Given the description of an element on the screen output the (x, y) to click on. 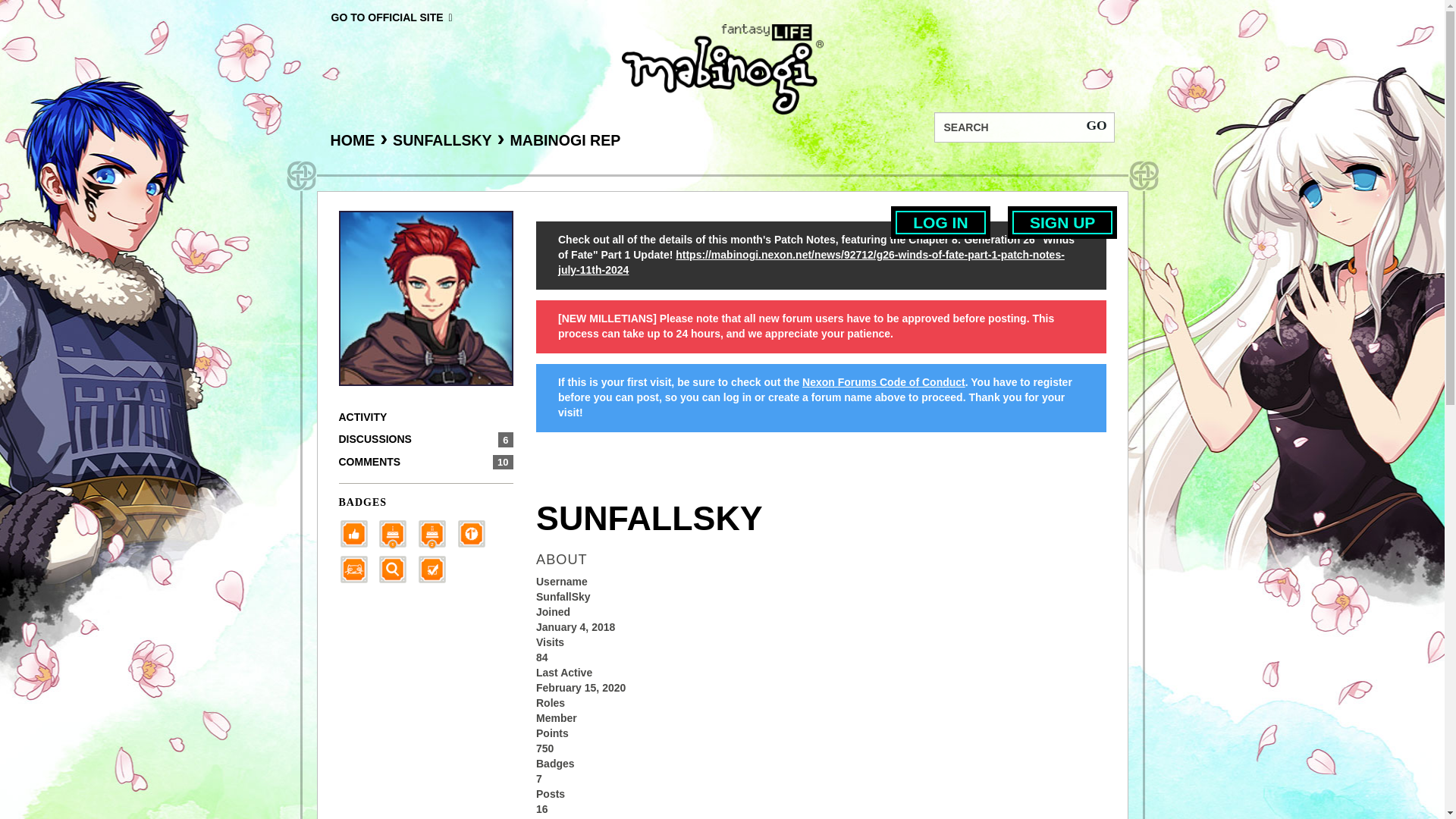
February 15, 2020  2:39PM (580, 687)
I Voted! (436, 567)
Advent of Goddess (396, 532)
Personality (357, 567)
Go (1095, 125)
Seal Breaker (476, 532)
January  4, 2018  5:19PM (574, 626)
Beginner (357, 532)
I wonder... (396, 567)
Paladin (436, 532)
